Given the description of an element on the screen output the (x, y) to click on. 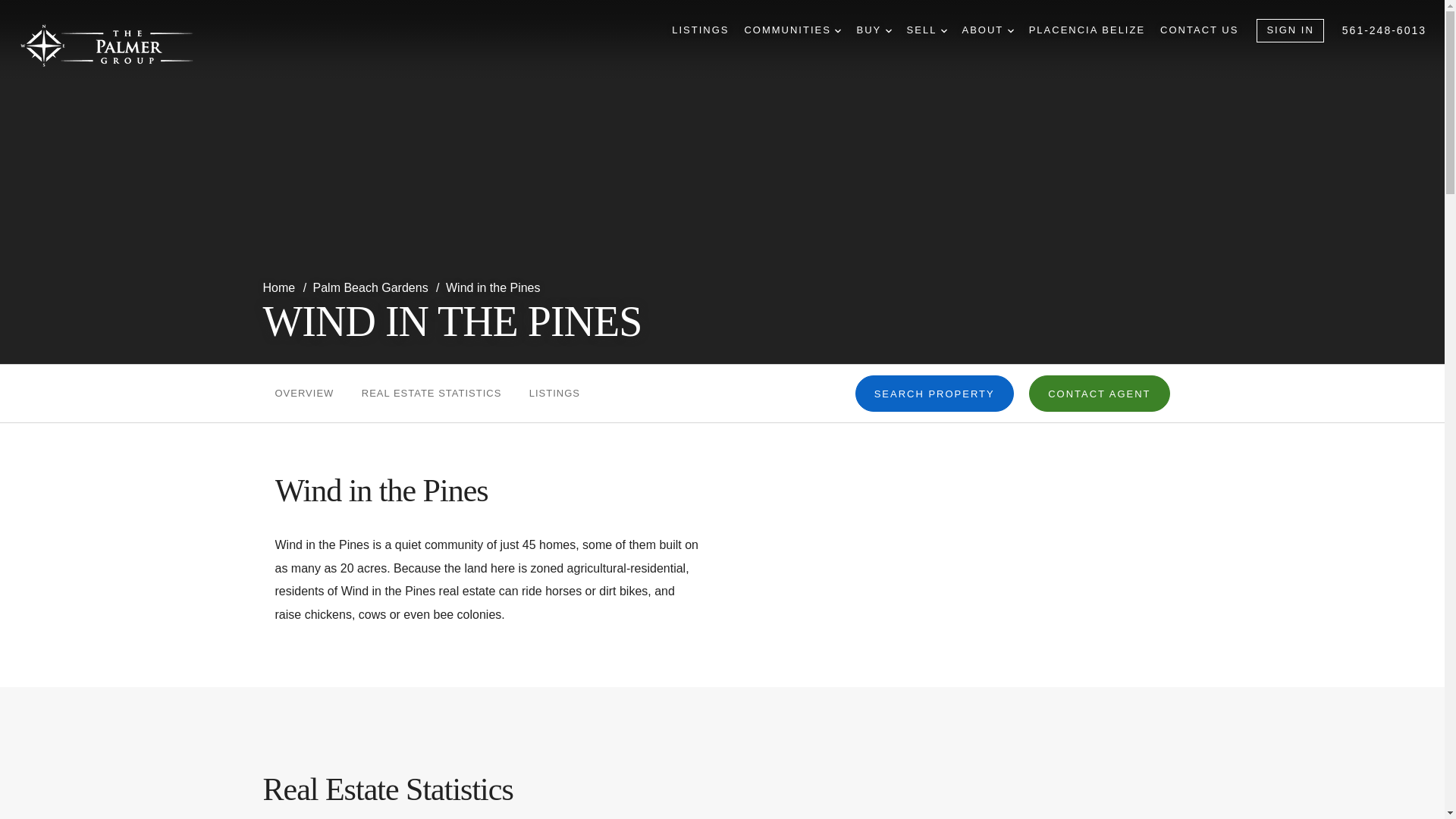
DROPDOWN ARROW (837, 30)
DROPDOWN ARROW (943, 30)
DROPDOWN ARROW (1010, 30)
PLACENCIA BELIZE (1086, 30)
DROPDOWN ARROW (888, 30)
LISTINGS (700, 30)
SELL DROPDOWN ARROW (927, 30)
CONTACT US (1199, 30)
COMMUNITIES DROPDOWN ARROW (792, 30)
ABOUT DROPDOWN ARROW (987, 30)
BUY DROPDOWN ARROW (873, 30)
